Given the description of an element on the screen output the (x, y) to click on. 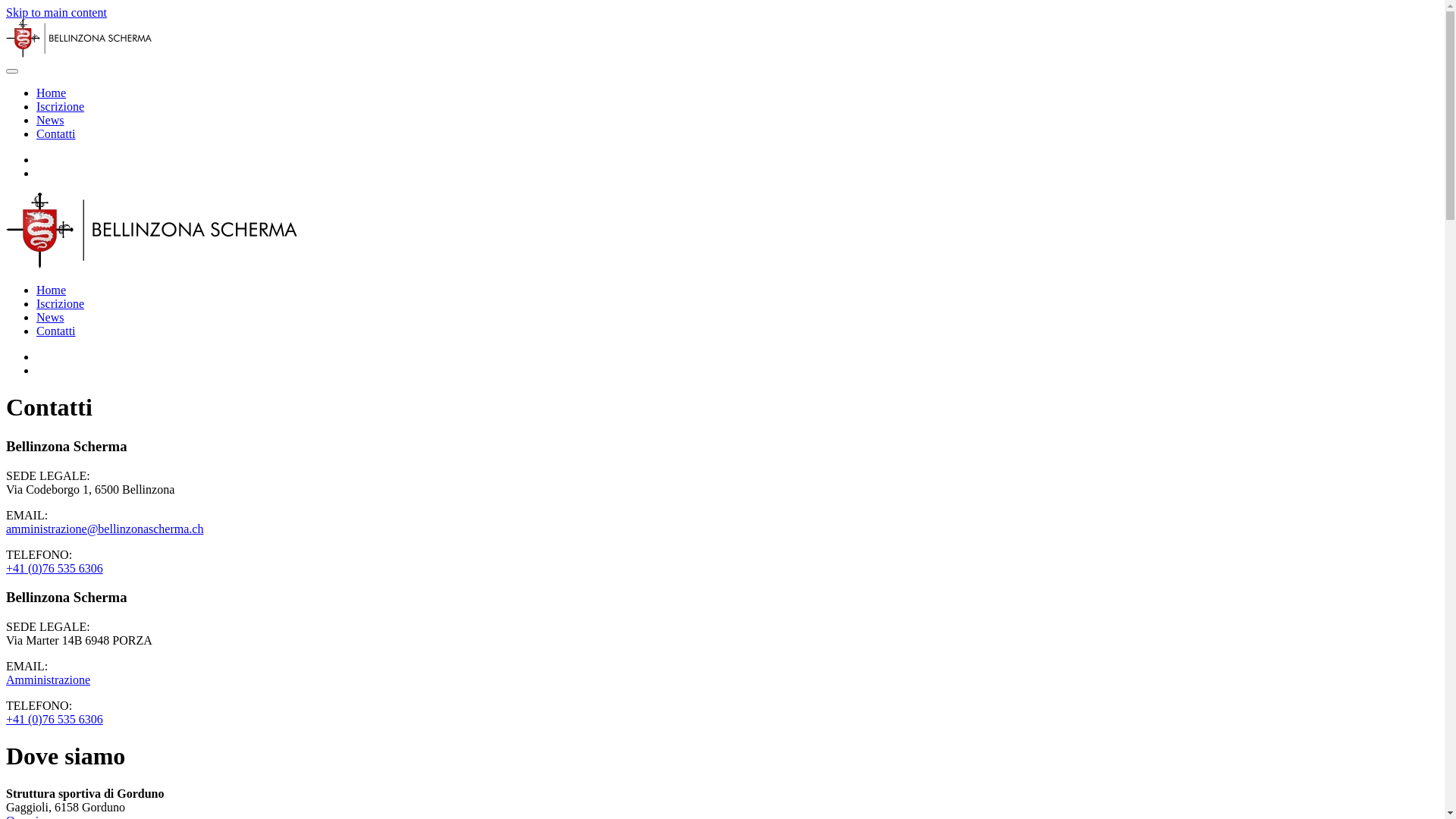
Contatti Element type: text (55, 330)
Home Element type: text (50, 92)
Home Element type: text (50, 289)
Contatti Element type: text (55, 133)
+41 (0)76 535 6306 Element type: text (54, 567)
Skip to main content Element type: text (56, 12)
+41 (0)76 535 6306 Element type: text (54, 718)
News Element type: text (49, 119)
Iscrizione Element type: text (60, 303)
amministrazione@bellinzonascherma.ch Element type: text (104, 528)
Iscrizione Element type: text (60, 106)
News Element type: text (49, 316)
Amministrazione Element type: text (48, 679)
